Given the description of an element on the screen output the (x, y) to click on. 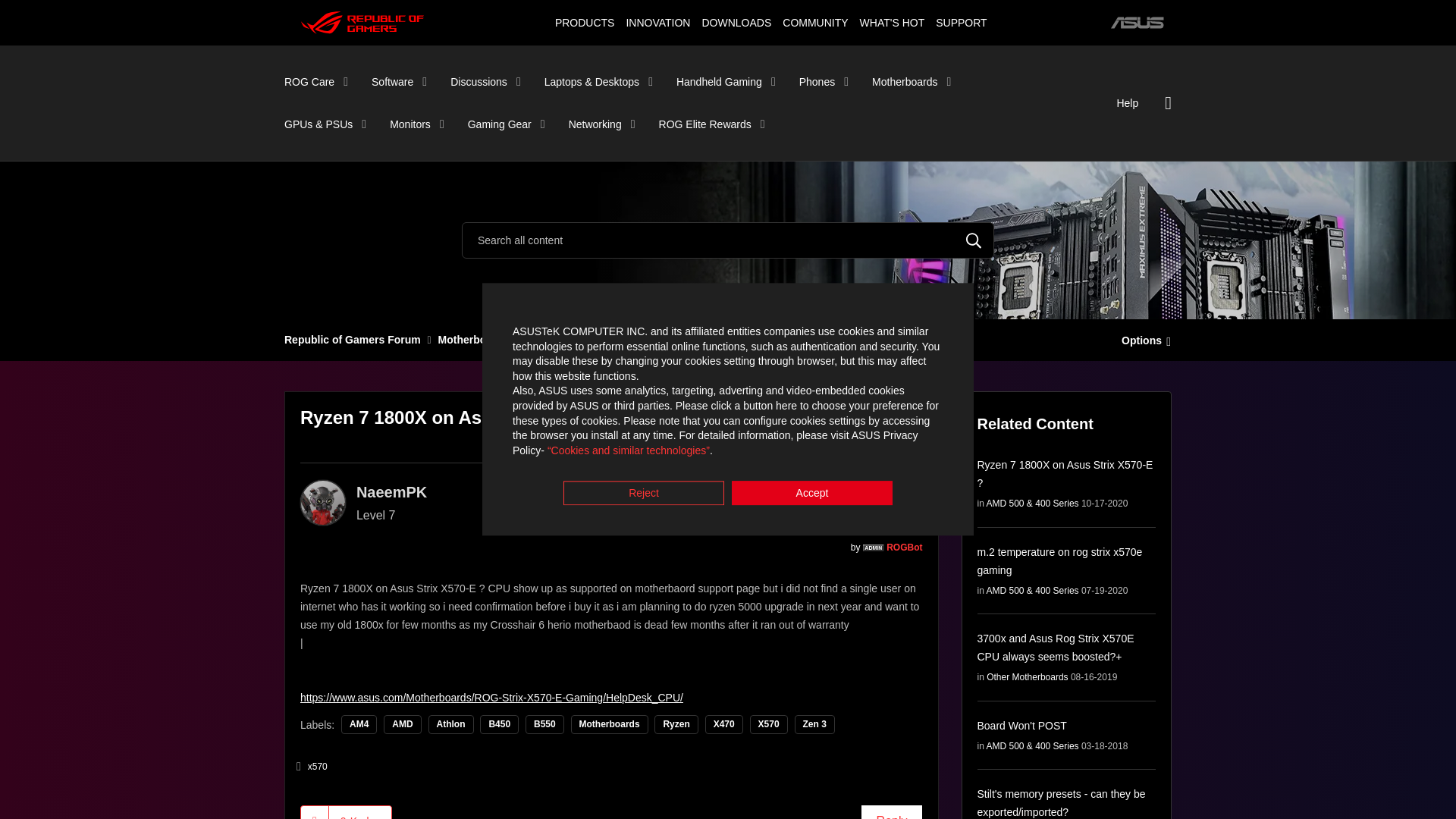
DOWNLOADS (736, 22)
COMMUNITY (815, 22)
Search (973, 239)
Community Admin (873, 547)
PRODUCTS (584, 22)
INNOVATION (657, 22)
The total number of kudos this post has received. (360, 812)
Search (973, 239)
Search (727, 239)
Click here to give kudos to this post. (315, 812)
